Given the description of an element on the screen output the (x, y) to click on. 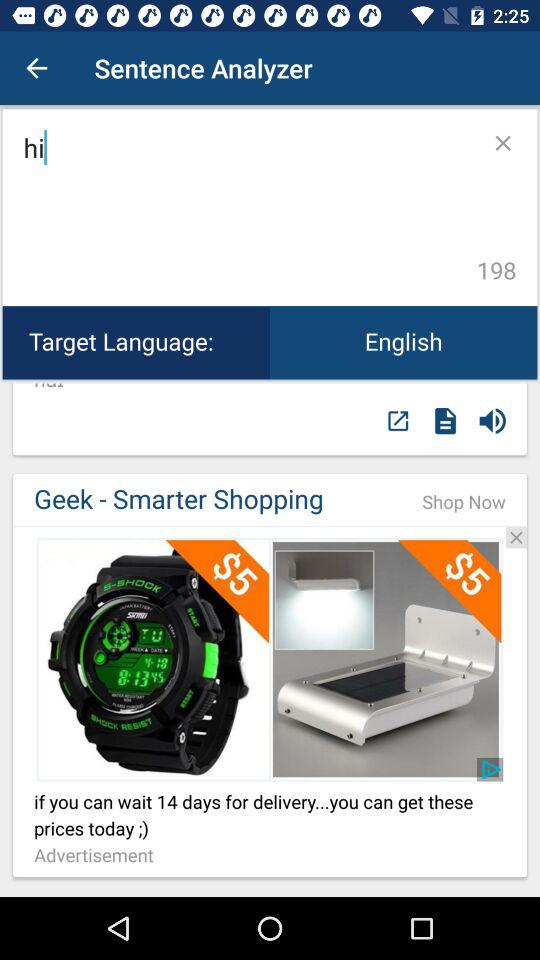
jump until shop now icon (463, 502)
